Given the description of an element on the screen output the (x, y) to click on. 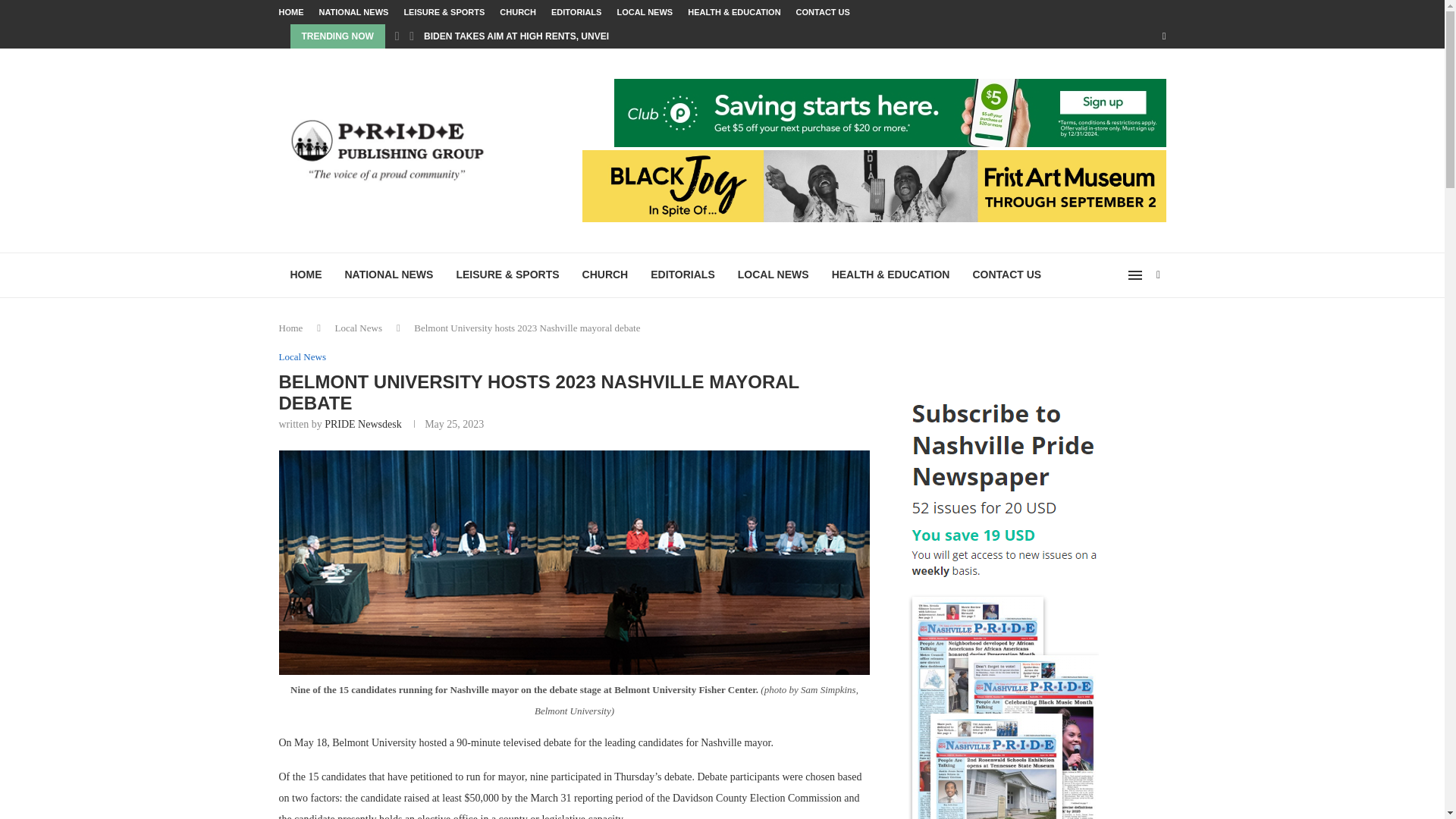
EDITORIALS (576, 12)
HOME (291, 12)
EDITORIALS (682, 275)
CONTACT US (823, 12)
BIDEN TAKES AIM AT HIGH RENTS, UNVEILS COMPREHENSIVE... (566, 36)
LOCAL NEWS (773, 275)
CHURCH (605, 275)
CHURCH (517, 12)
NATIONAL NEWS (389, 275)
NATIONAL NEWS (353, 12)
LOCAL NEWS (643, 12)
HOME (306, 275)
